Given the description of an element on the screen output the (x, y) to click on. 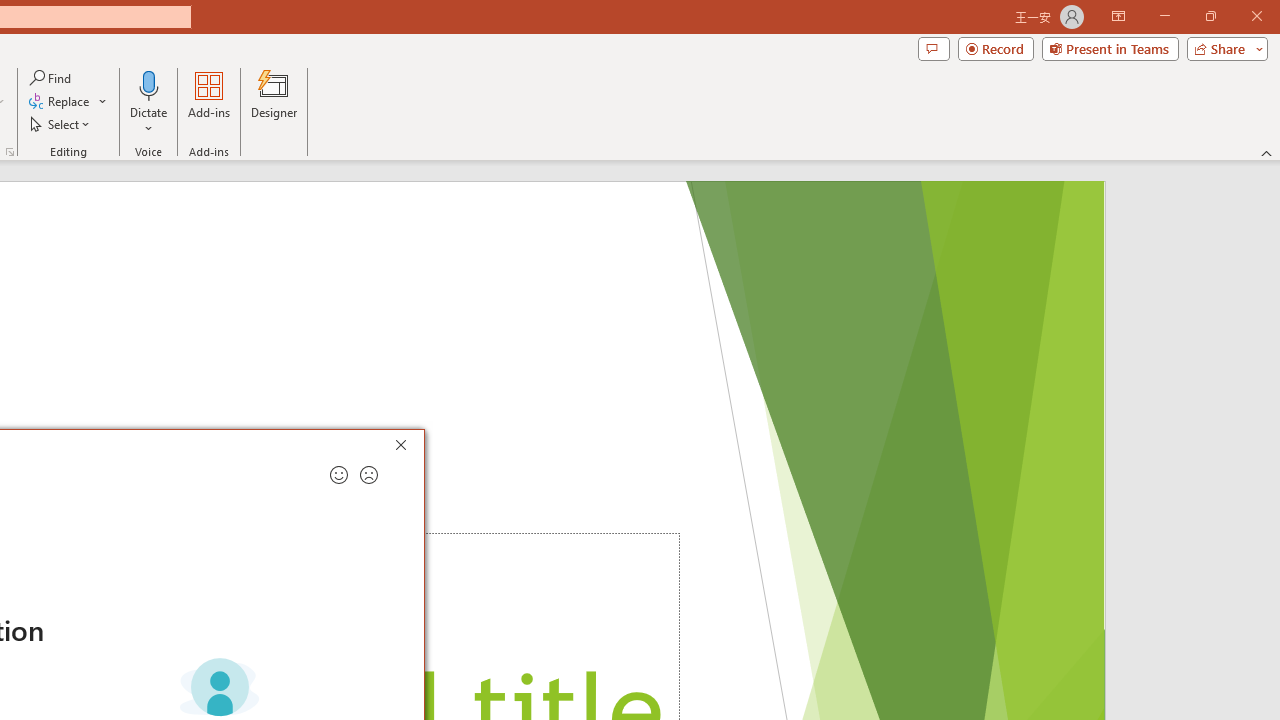
Send a frown for feedback (369, 475)
Select (61, 124)
Send a smile for feedback (338, 475)
